Given the description of an element on the screen output the (x, y) to click on. 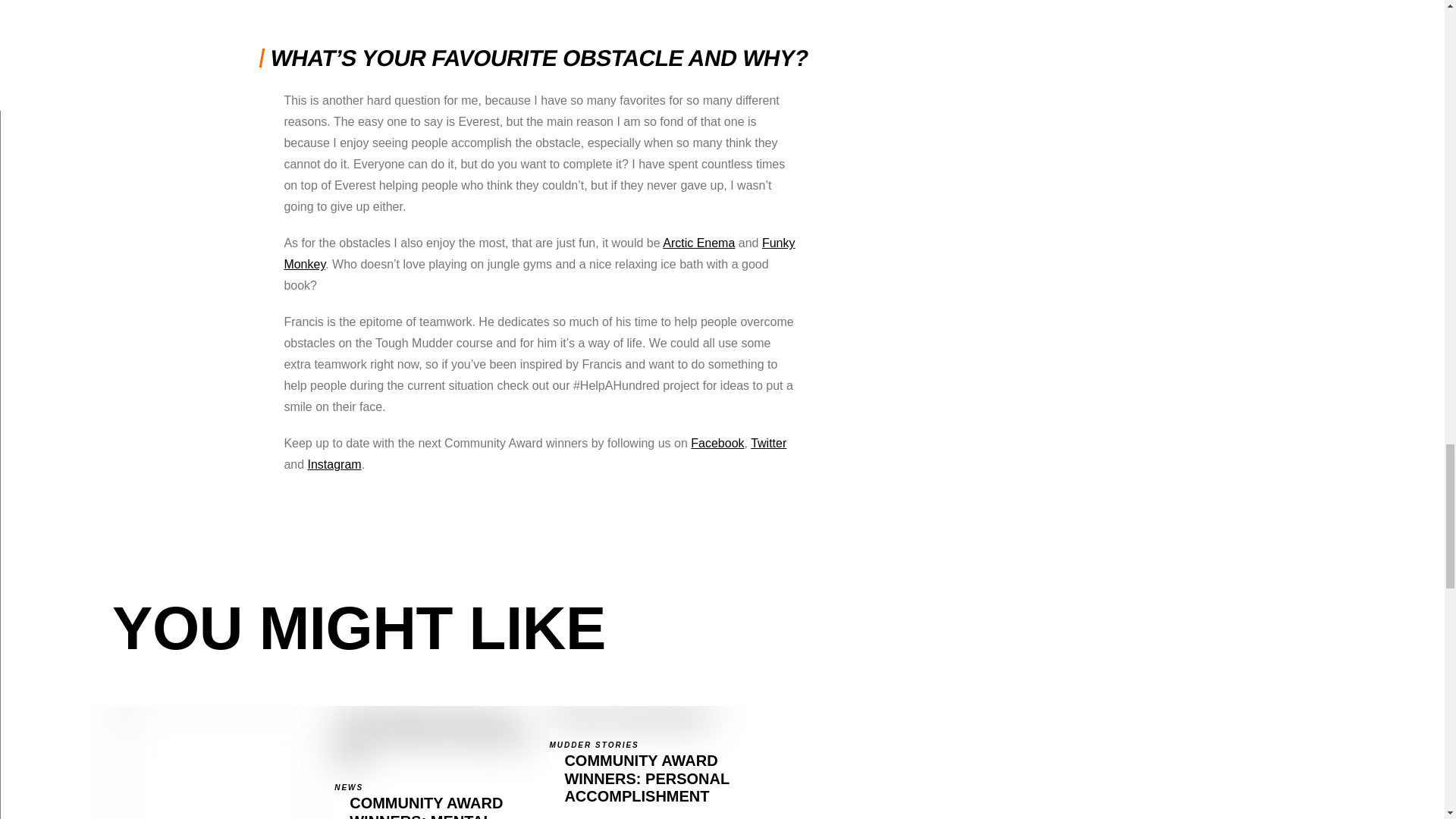
Funky Monkey (538, 253)
Instagram (218, 762)
Twitter (334, 463)
Facebook (768, 442)
Arctic Enema (717, 442)
